Given the description of an element on the screen output the (x, y) to click on. 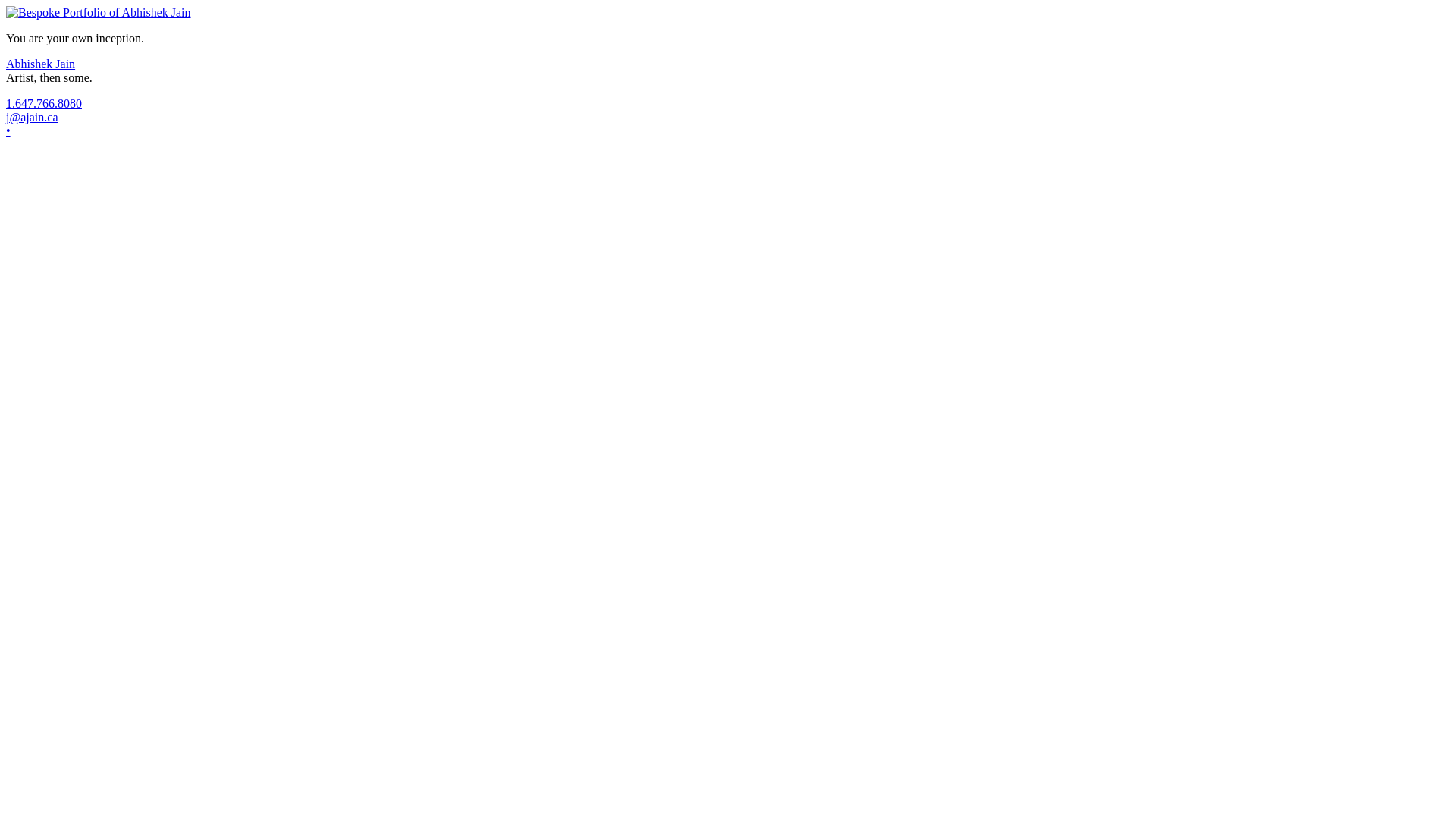
j@ajain.ca Element type: text (31, 116)
The Portfolio Element type: hover (98, 12)
Abhishek Jain Element type: text (40, 63)
1.647.766.8080 Element type: text (43, 103)
